Given the description of an element on the screen output the (x, y) to click on. 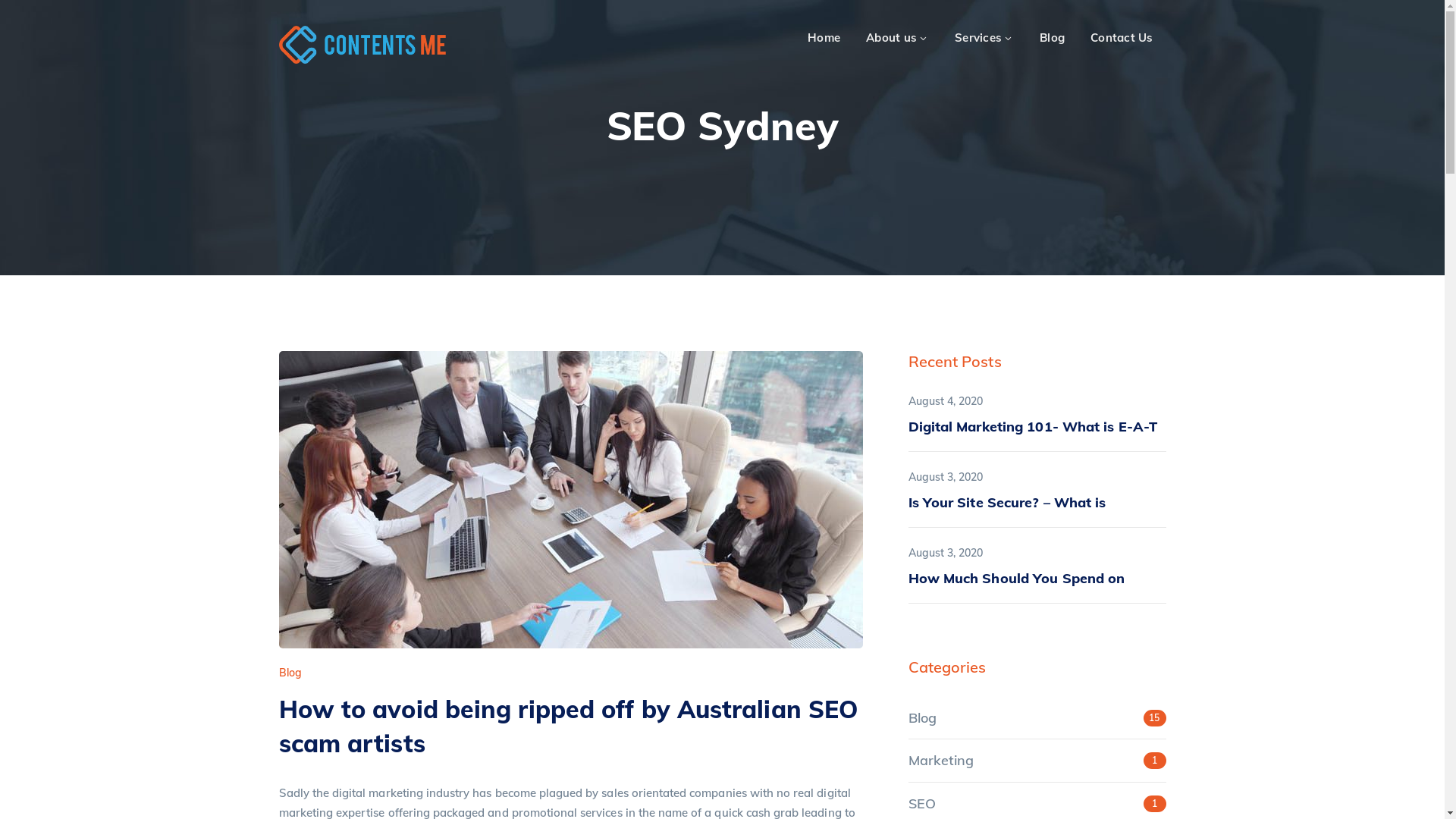
Home Element type: text (823, 37)
How Much Should You Spend on Element type: text (1016, 577)
Blog Element type: text (922, 717)
Services Element type: text (983, 37)
Marketing Element type: text (940, 760)
Blog Element type: text (290, 672)
Content's Me Element type: hover (362, 43)
How to avoid being ripped off by Australian SEO scam artists Element type: text (568, 725)
About us Element type: text (897, 37)
Digital Marketing 101- What is E-A-T Element type: text (1032, 426)
Contact Us Element type: text (1121, 37)
Blog Element type: text (1051, 37)
